Given the description of an element on the screen output the (x, y) to click on. 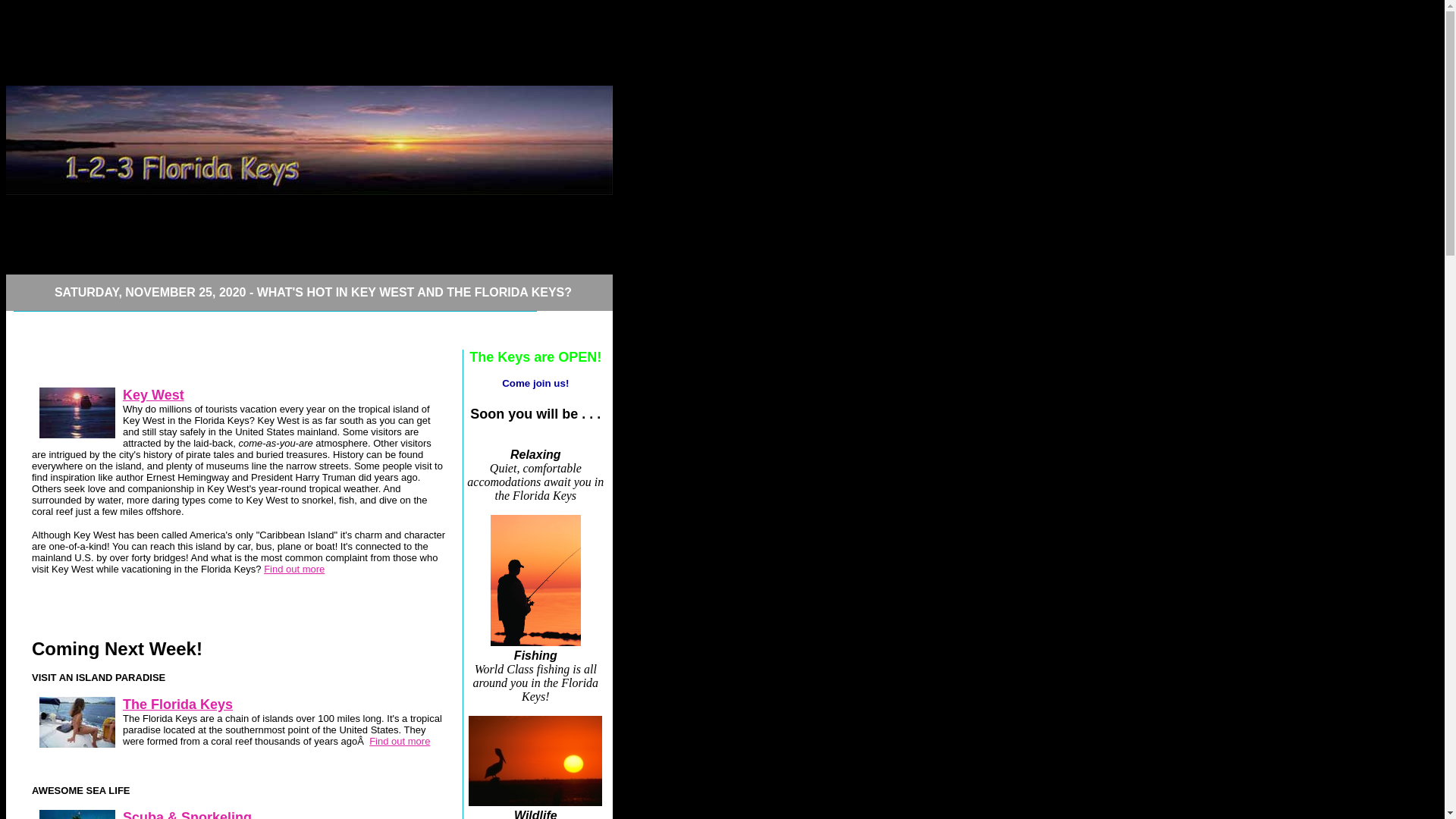
Find out more Element type: text (293, 568)
Key West Element type: text (153, 394)
Find out more Element type: text (399, 740)
The Florida Keys Element type: text (177, 704)
